Given the description of an element on the screen output the (x, y) to click on. 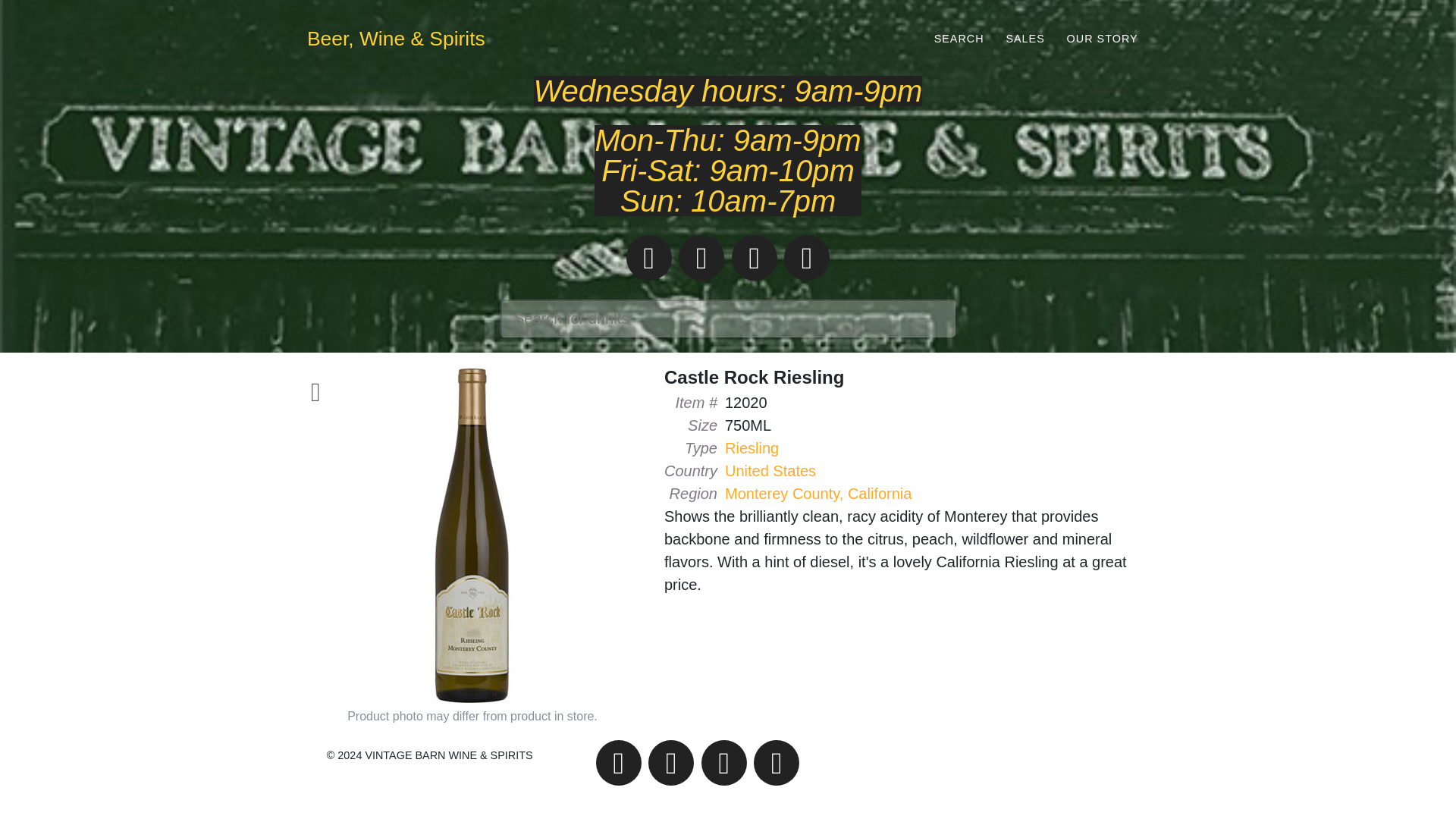
Directions to Vintage Barn (670, 762)
Call 508-672-9541 (648, 257)
OUR STORY (1101, 38)
Twitter (723, 762)
About (1101, 38)
Search (958, 38)
Twitter (754, 257)
SALES (1024, 38)
Riesling (751, 447)
SEARCH (958, 38)
